Given the description of an element on the screen output the (x, y) to click on. 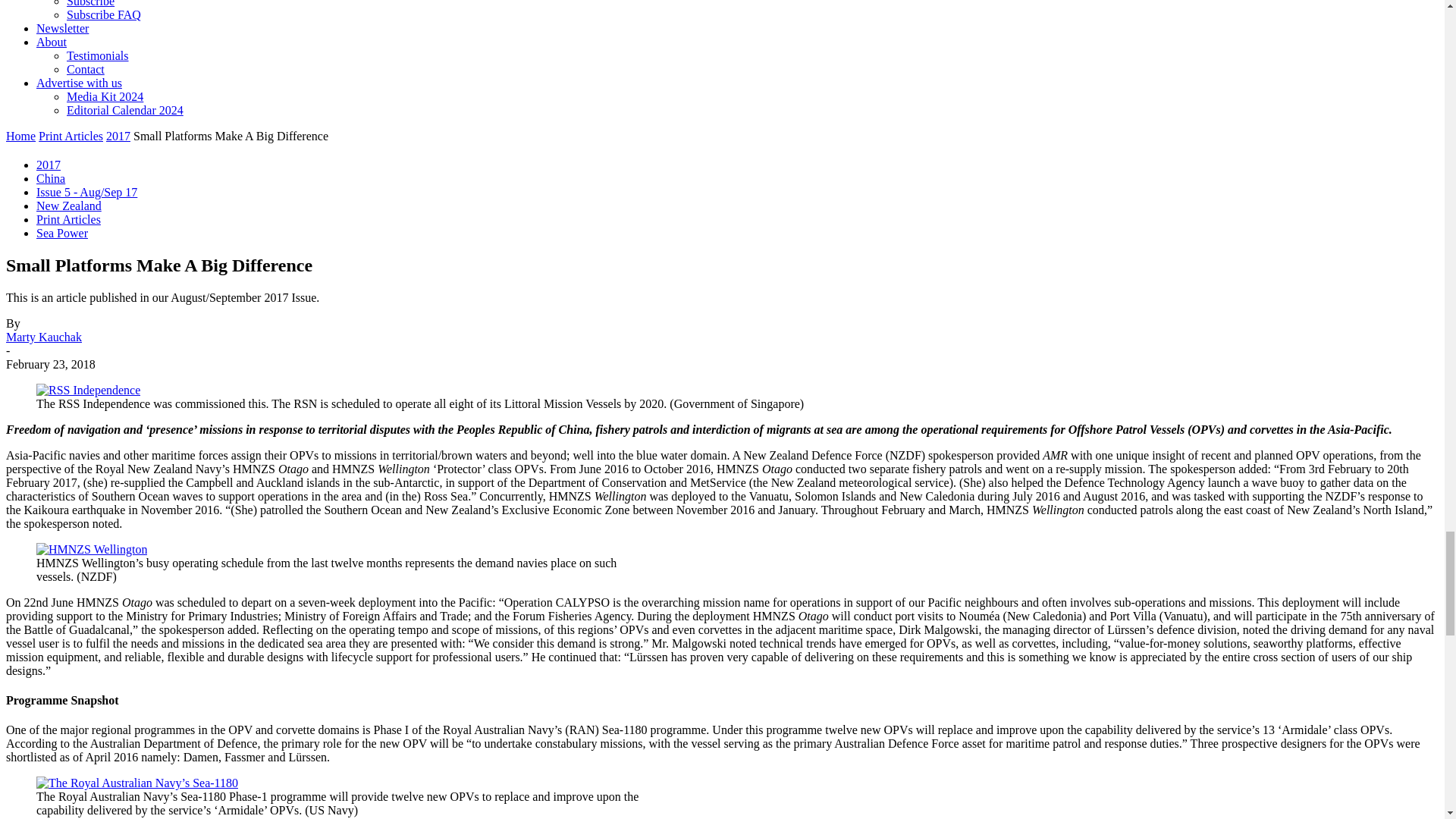
View all posts in 2017 (118, 135)
View all posts in Print Articles (71, 135)
